Given the description of an element on the screen output the (x, y) to click on. 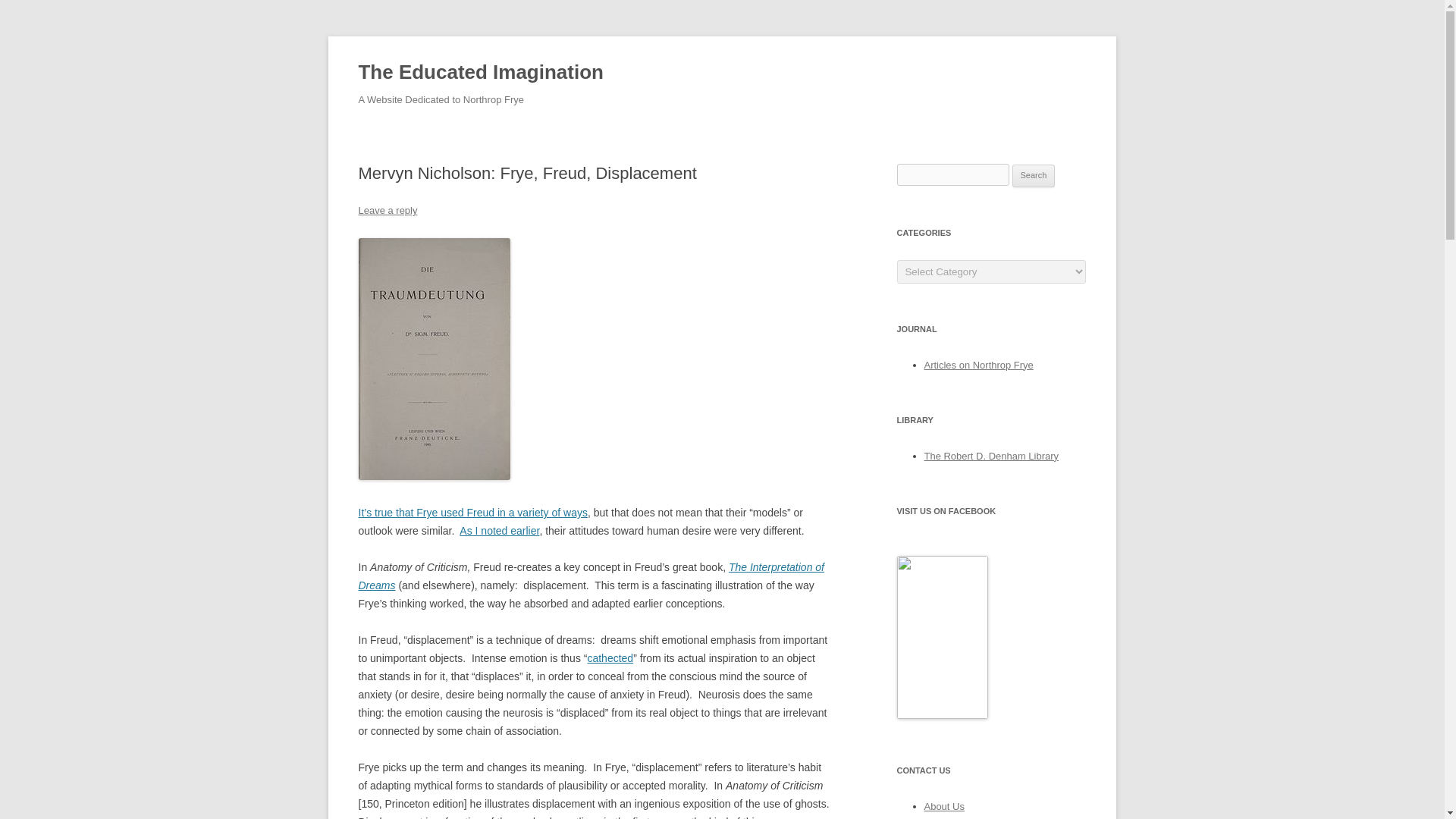
cathected (609, 657)
Leave a reply (387, 210)
Search (1033, 175)
Articles on Northrop Frye (977, 365)
As I noted earlier (499, 530)
The Educated Imagination (480, 72)
The Robert D. Denham Library (990, 455)
The Interpretation of Dreams (591, 576)
Northrop Frye Blog (941, 715)
About Us (943, 806)
Search (1033, 175)
